Given the description of an element on the screen output the (x, y) to click on. 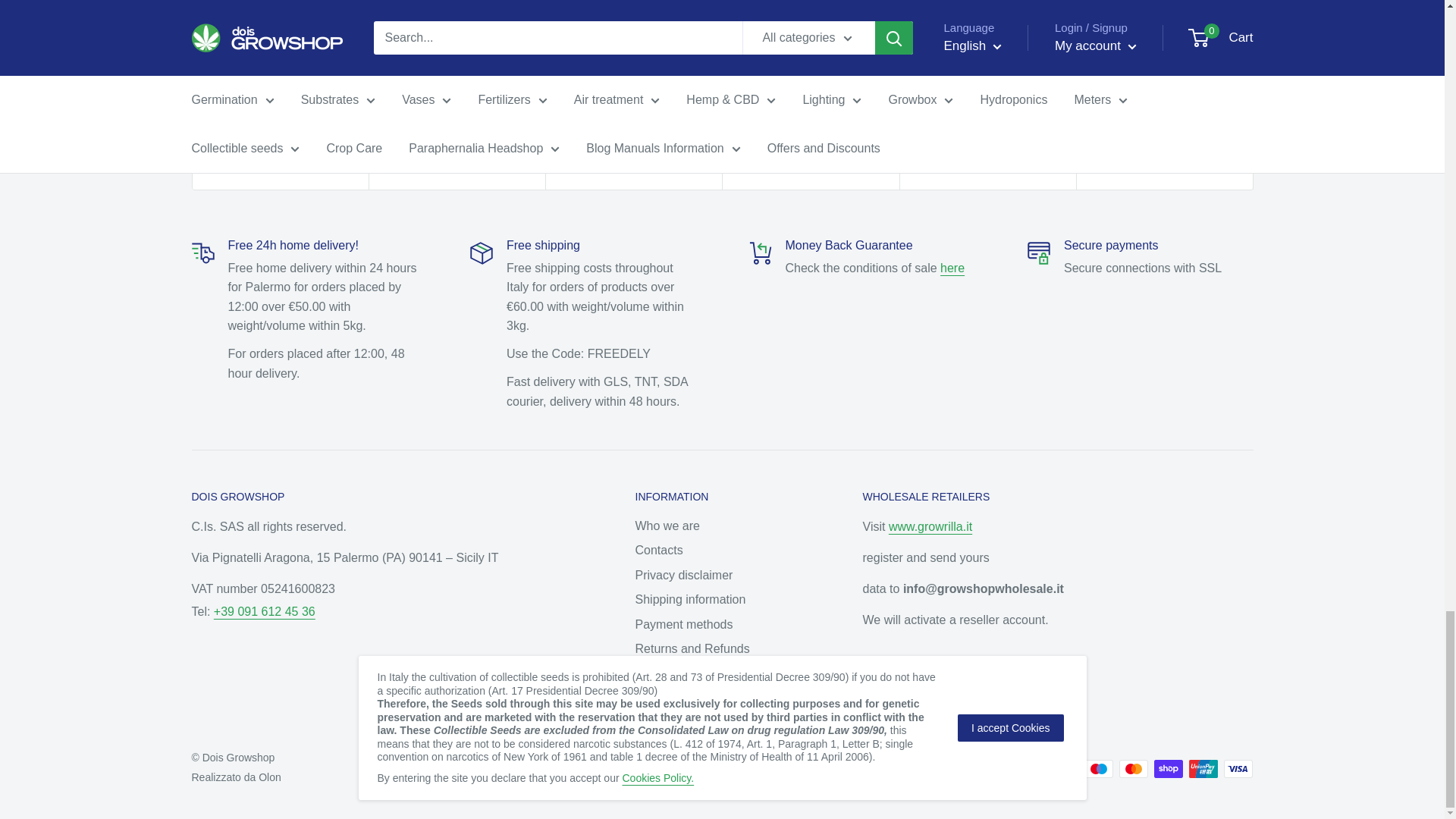
Terms of Service (951, 267)
